Given the description of an element on the screen output the (x, y) to click on. 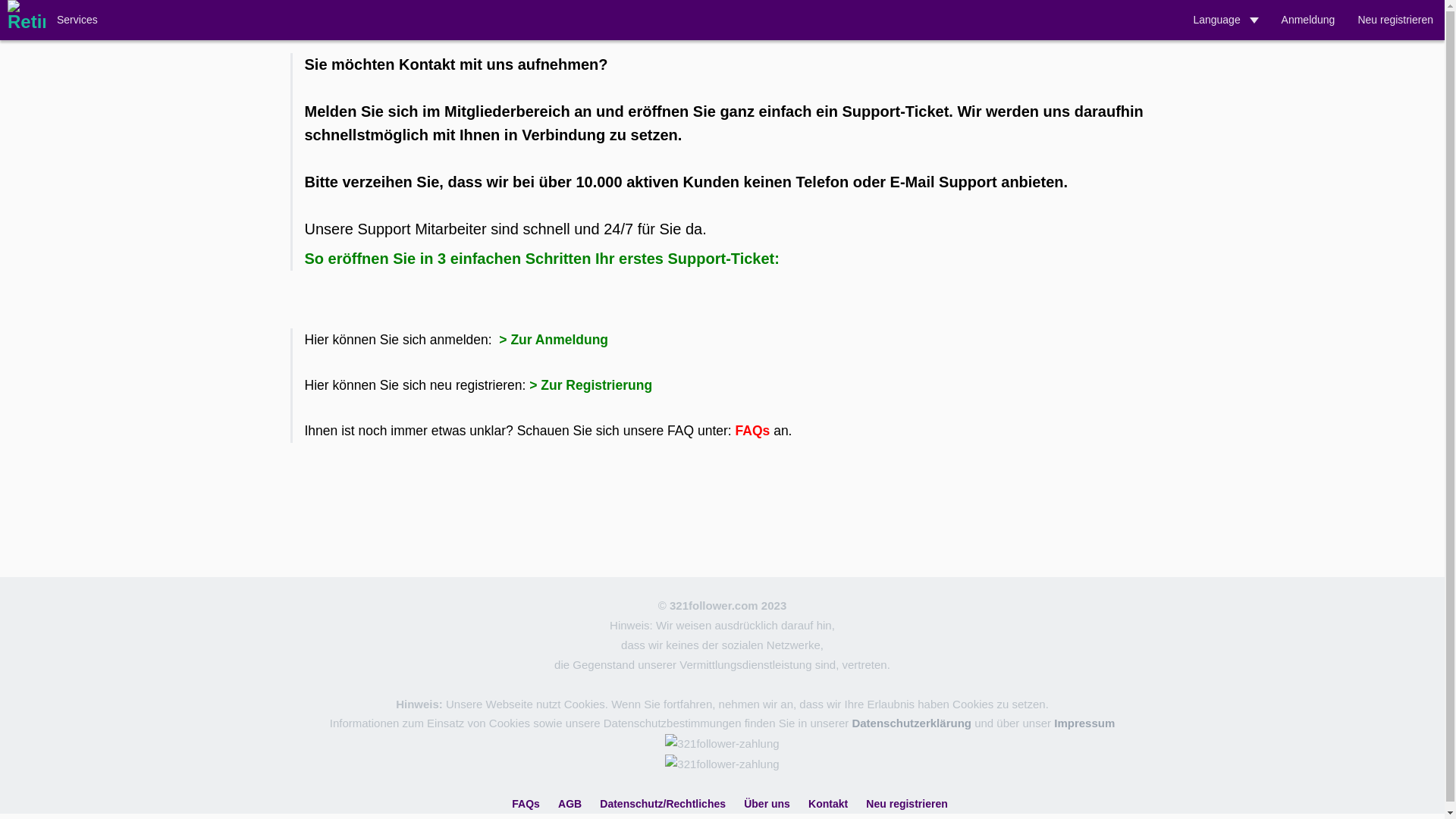
FAQs Element type: text (525, 803)
Impressum Element type: text (1084, 722)
Datenschutz/Rechtliches Element type: text (662, 803)
Language Element type: text (1225, 20)
Neu registrieren Element type: text (1395, 20)
FAQs Element type: text (754, 430)
AGB Element type: text (569, 803)
> Zur Registrierung Element type: text (590, 384)
Anmeldung Element type: text (1308, 20)
Neu registrieren Element type: text (906, 803)
Kontakt Element type: text (827, 803)
Services Element type: text (77, 20)
> Zur Anmeldung Element type: text (551, 339)
